Given the description of an element on the screen output the (x, y) to click on. 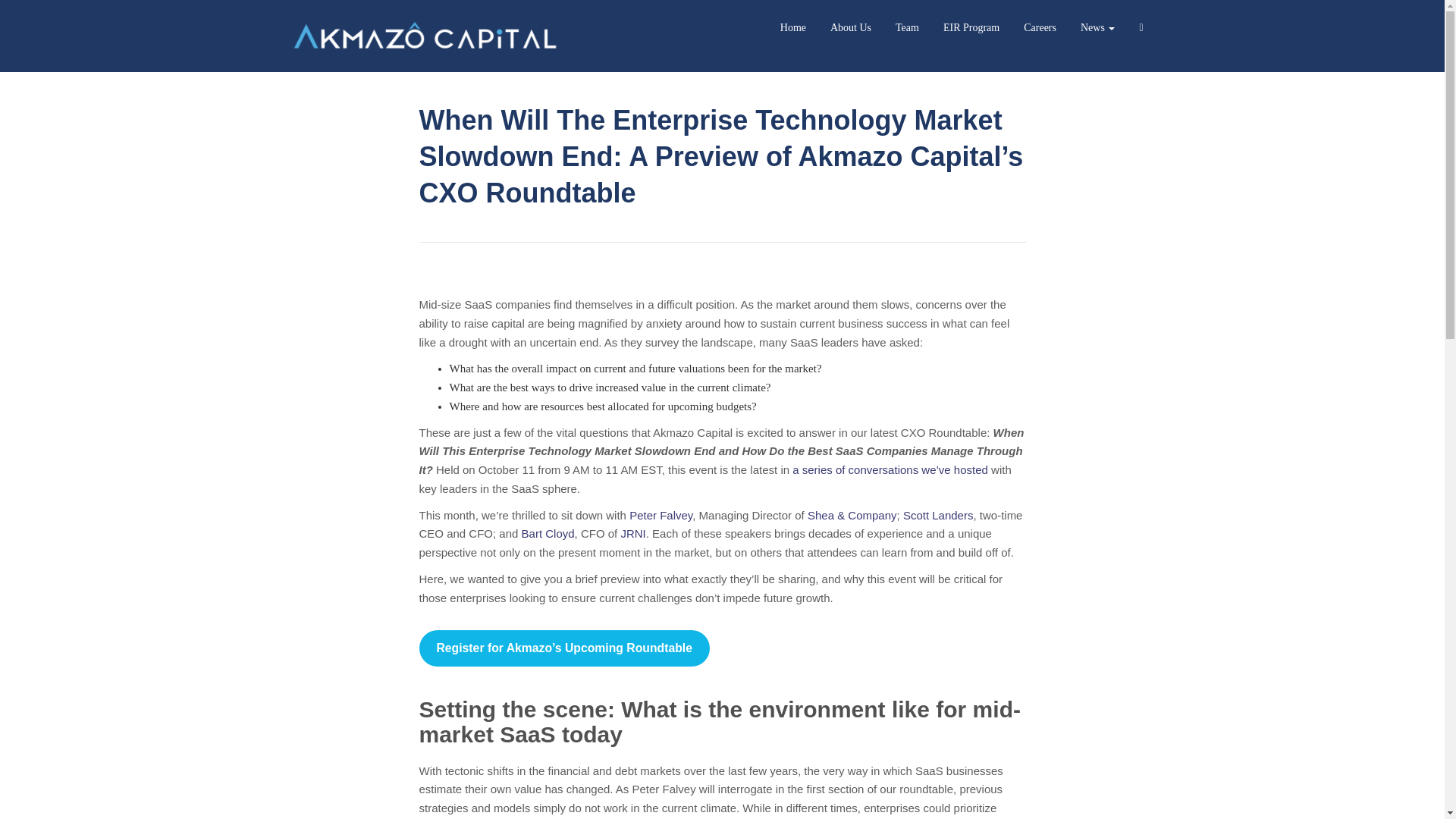
Bart Cloyd (548, 533)
EIR Program (970, 27)
News (1097, 27)
Peter Falvey (660, 513)
a series of conversations (855, 469)
JRNI (632, 533)
Scott Landers (938, 513)
About Us (849, 27)
